Given the description of an element on the screen output the (x, y) to click on. 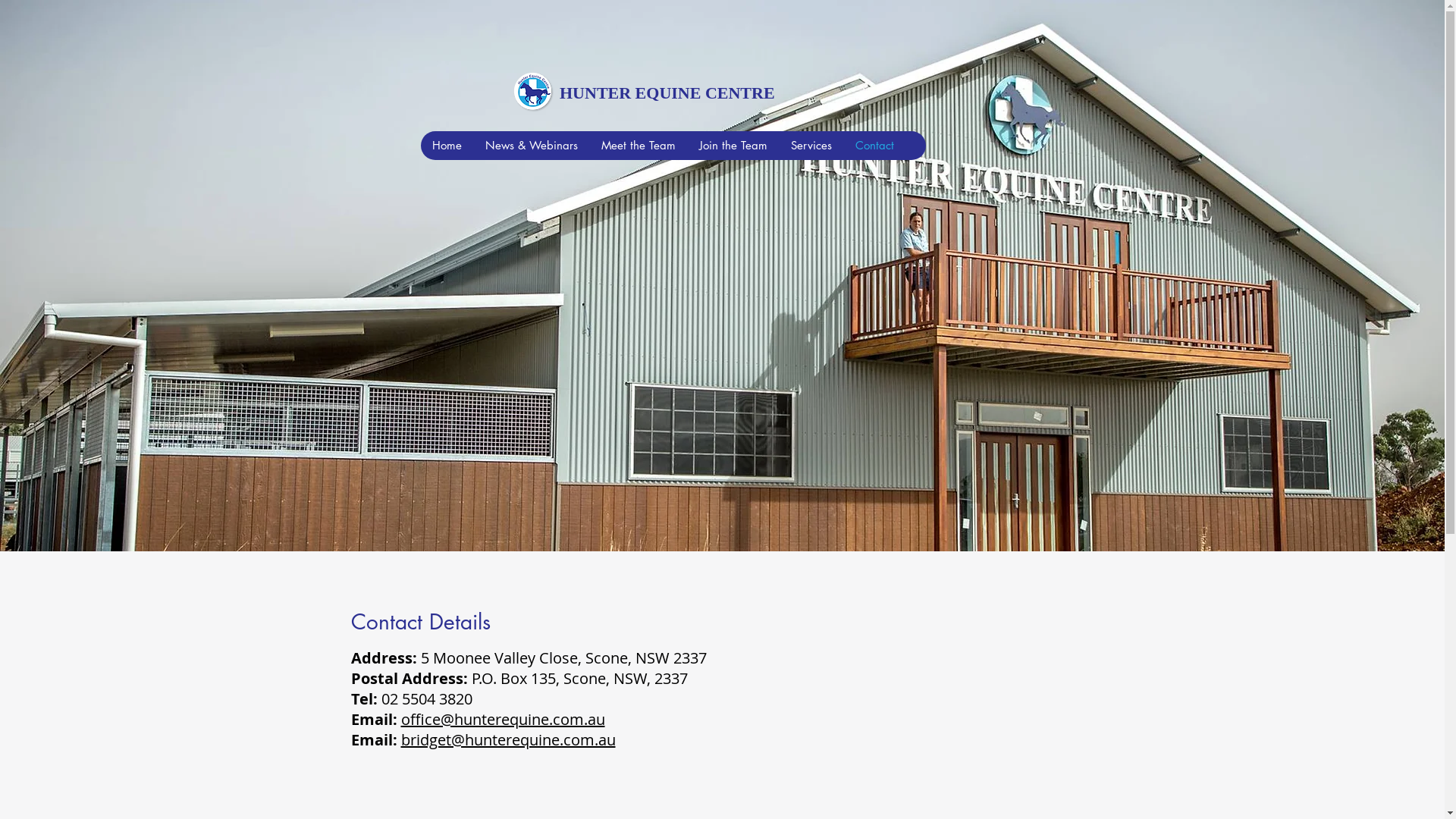
Join the Team Element type: text (732, 145)
Services Element type: text (810, 145)
HUNTER EQUINE CENTRE Element type: text (667, 92)
Meet the Team Element type: text (638, 145)
office@hunterequine.com.au Element type: text (502, 719)
Home Element type: text (446, 145)
News & Webinars Element type: text (531, 145)
Contact Element type: text (874, 145)
bridget@hunterequine.com.au Element type: text (507, 739)
